Given the description of an element on the screen output the (x, y) to click on. 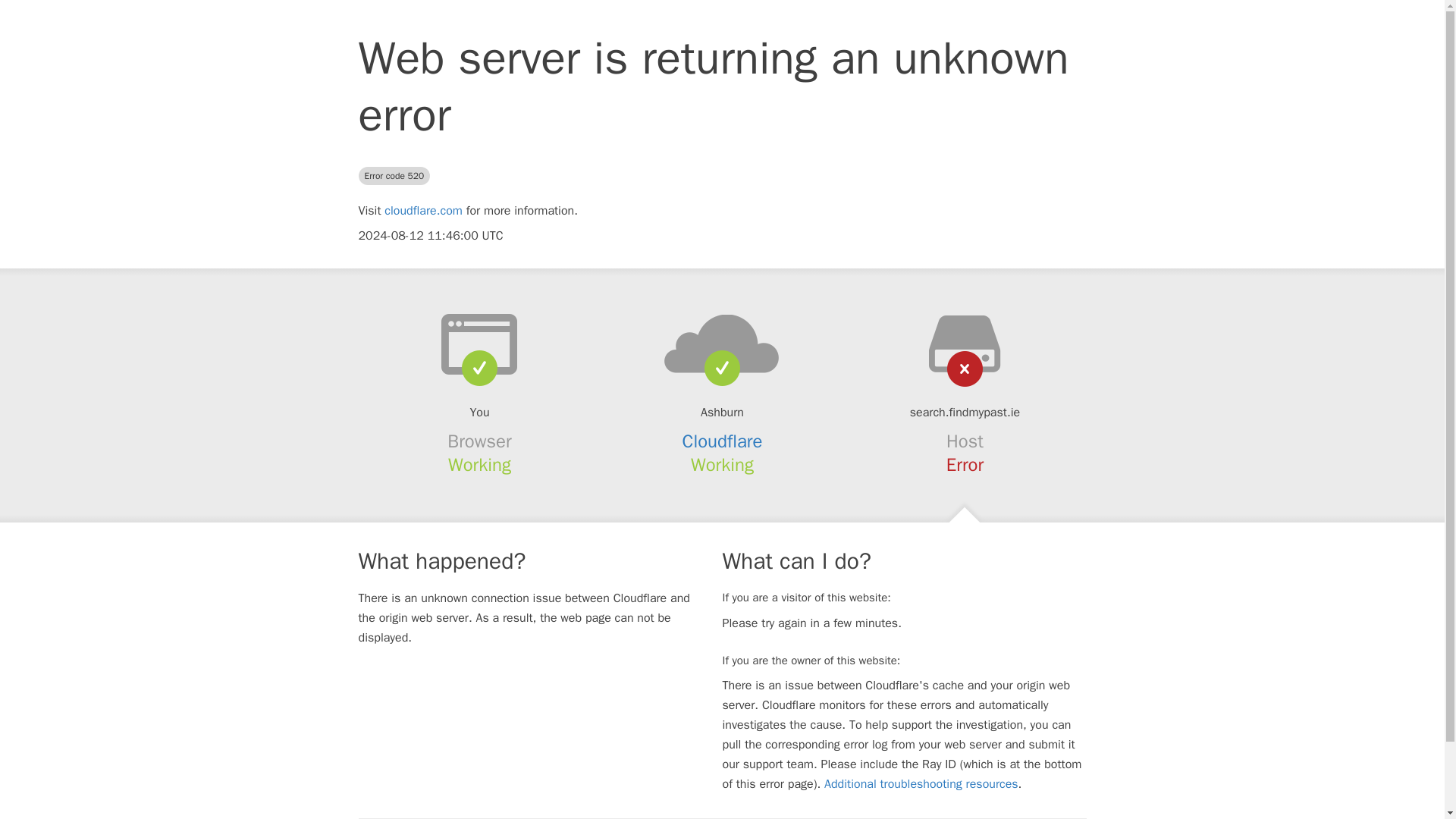
Additional troubleshooting resources (920, 783)
cloudflare.com (423, 210)
Cloudflare (722, 440)
